Given the description of an element on the screen output the (x, y) to click on. 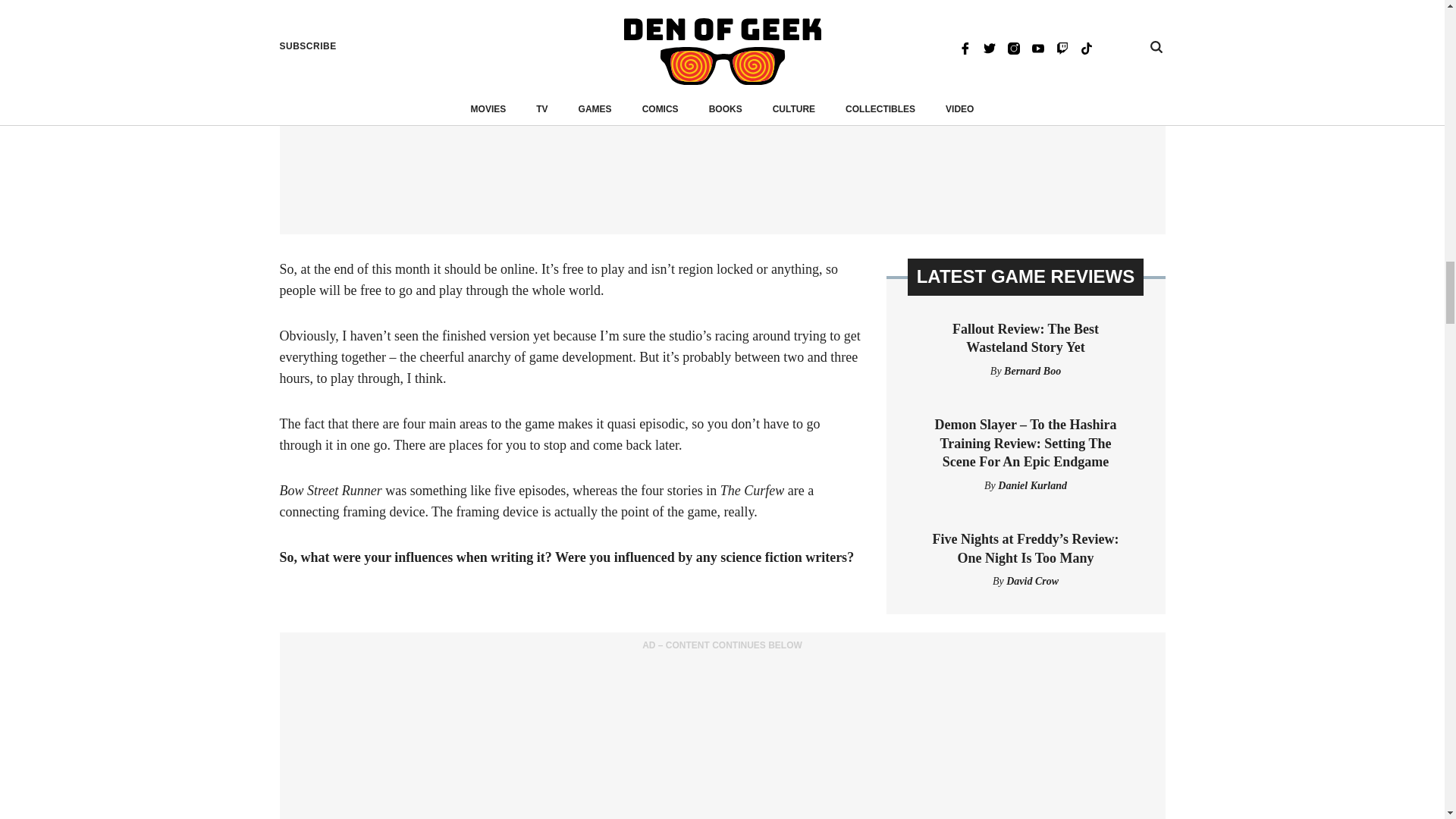
David Crow (1032, 581)
Daniel Kurland (1032, 485)
Bernard Boo (1032, 370)
Fallout Review: The Best Wasteland Story Yet (1025, 337)
